Given the description of an element on the screen output the (x, y) to click on. 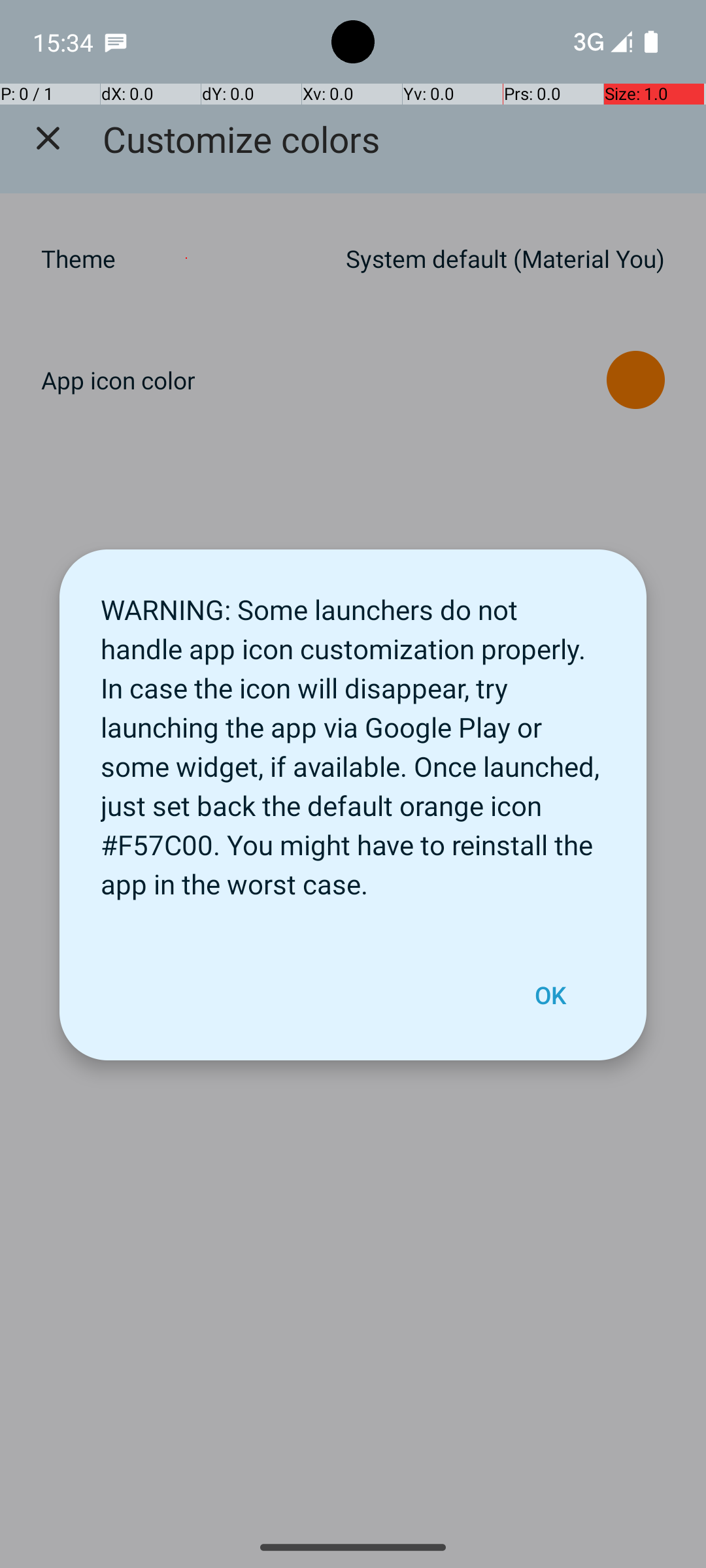
WARNING: Some launchers do not handle app icon customization properly. In case the icon will disappear, try launching the app via Google Play or some widget, if available. Once launched, just set back the default orange icon #F57C00. You might have to reinstall the app in the worst case. Element type: android.widget.TextView (352, 739)
